Given the description of an element on the screen output the (x, y) to click on. 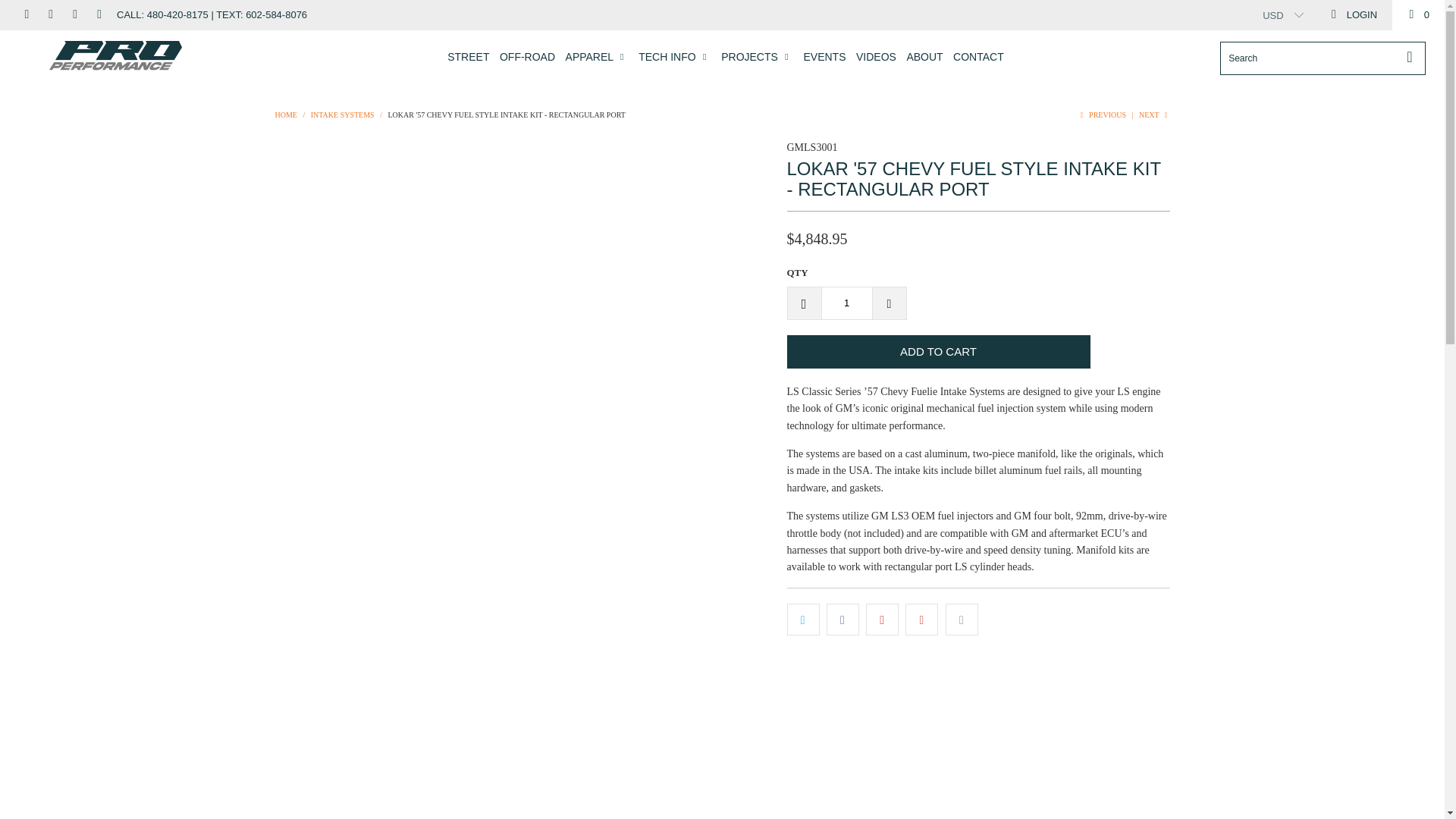
Previous (1101, 114)
Next (1153, 114)
Email Pro Performance (97, 14)
My Account  (1353, 15)
OFF-ROAD (526, 57)
Pro Performance on Facebook (25, 14)
Share this on Twitter (803, 619)
1 (846, 303)
LOGIN (1353, 15)
Pro Performance (115, 56)
STREET (467, 57)
Share this on Facebook (843, 619)
TECH INFO (675, 57)
Email this to a friend (961, 619)
Pro Performance (286, 114)
